Given the description of an element on the screen output the (x, y) to click on. 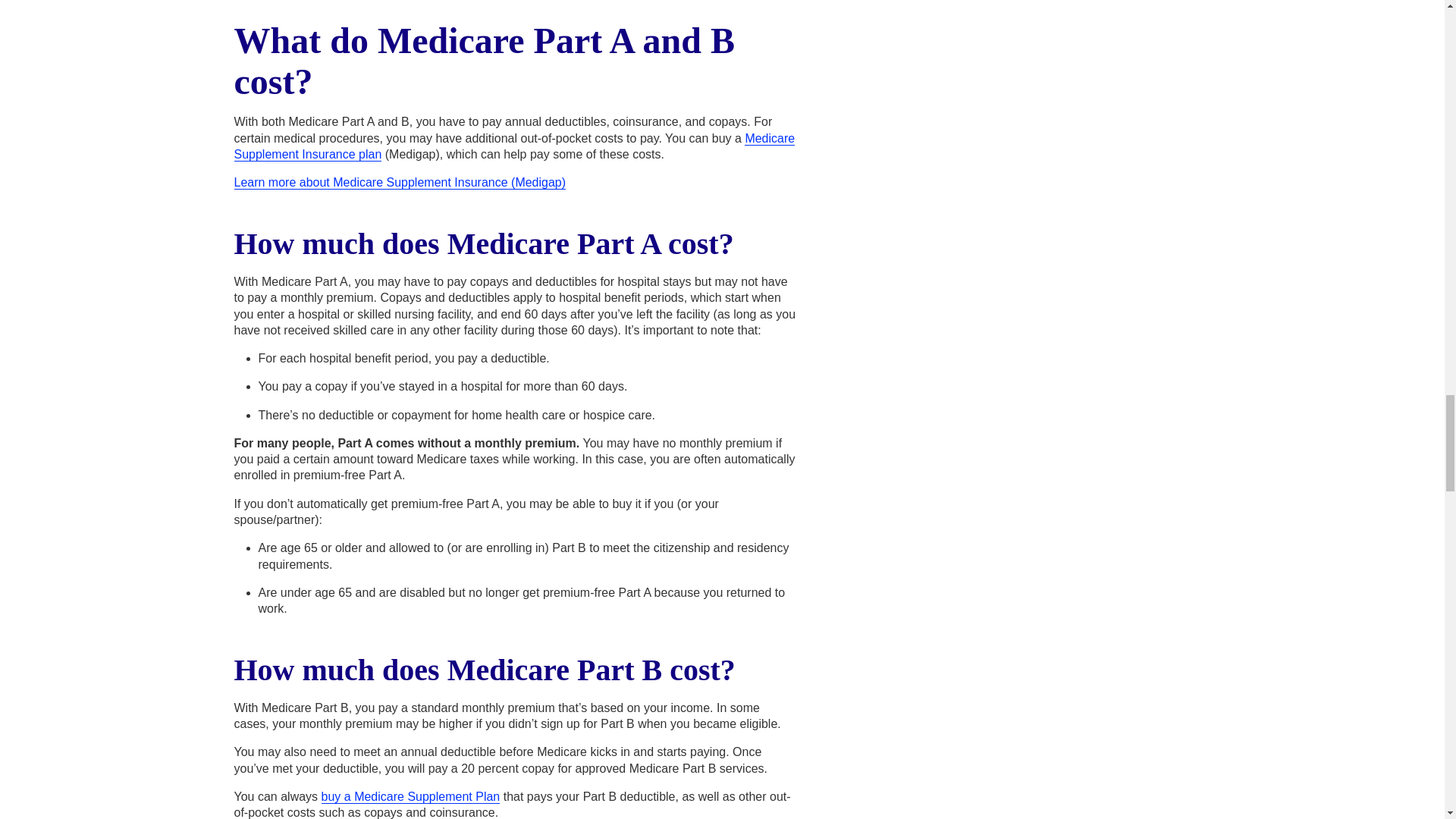
Medicare Supplement Insurance plan (513, 146)
buy a Medicare Supplement Plan (410, 796)
